Given the description of an element on the screen output the (x, y) to click on. 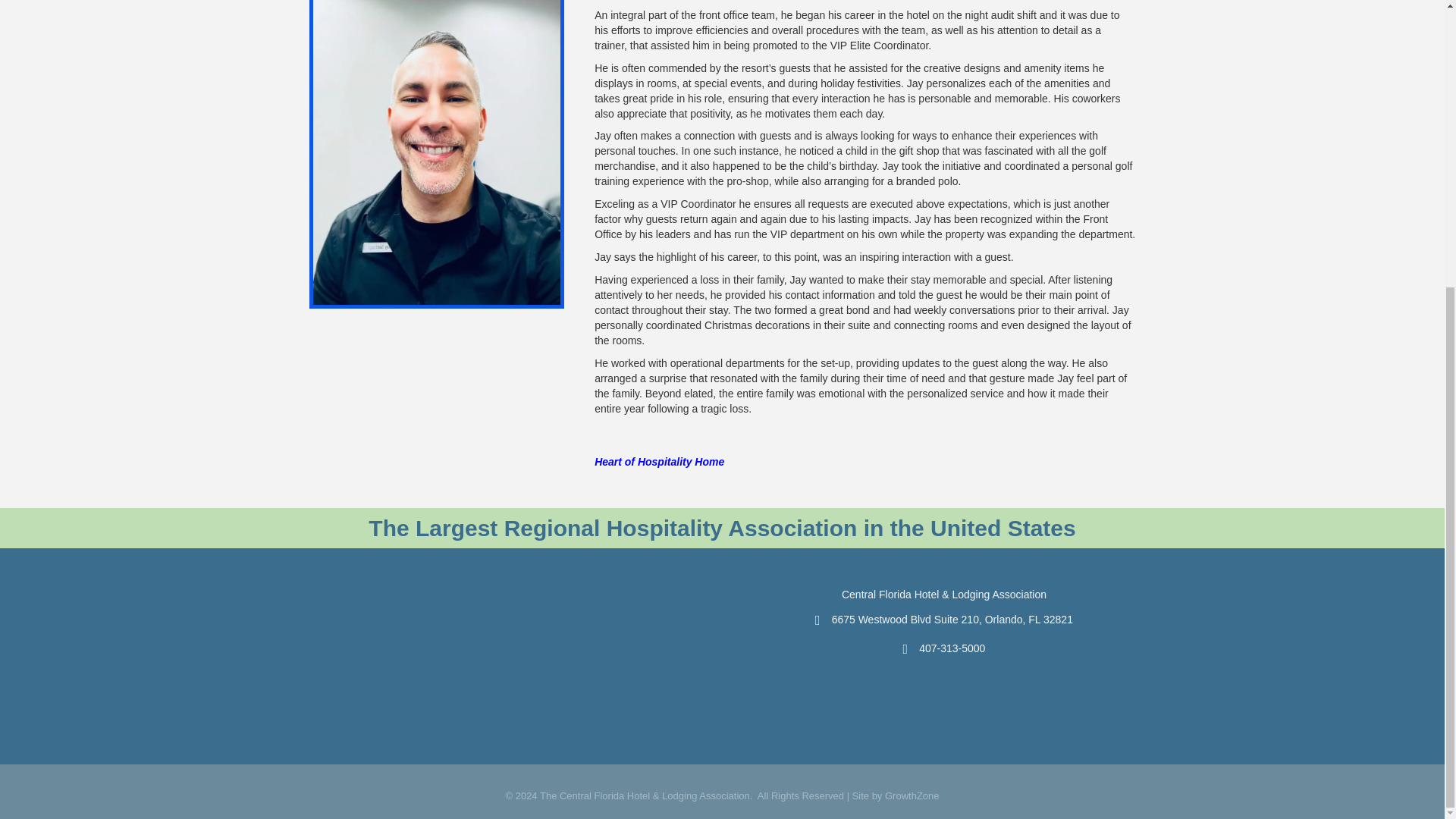
Santiago, Jay (436, 154)
